Given the description of an element on the screen output the (x, y) to click on. 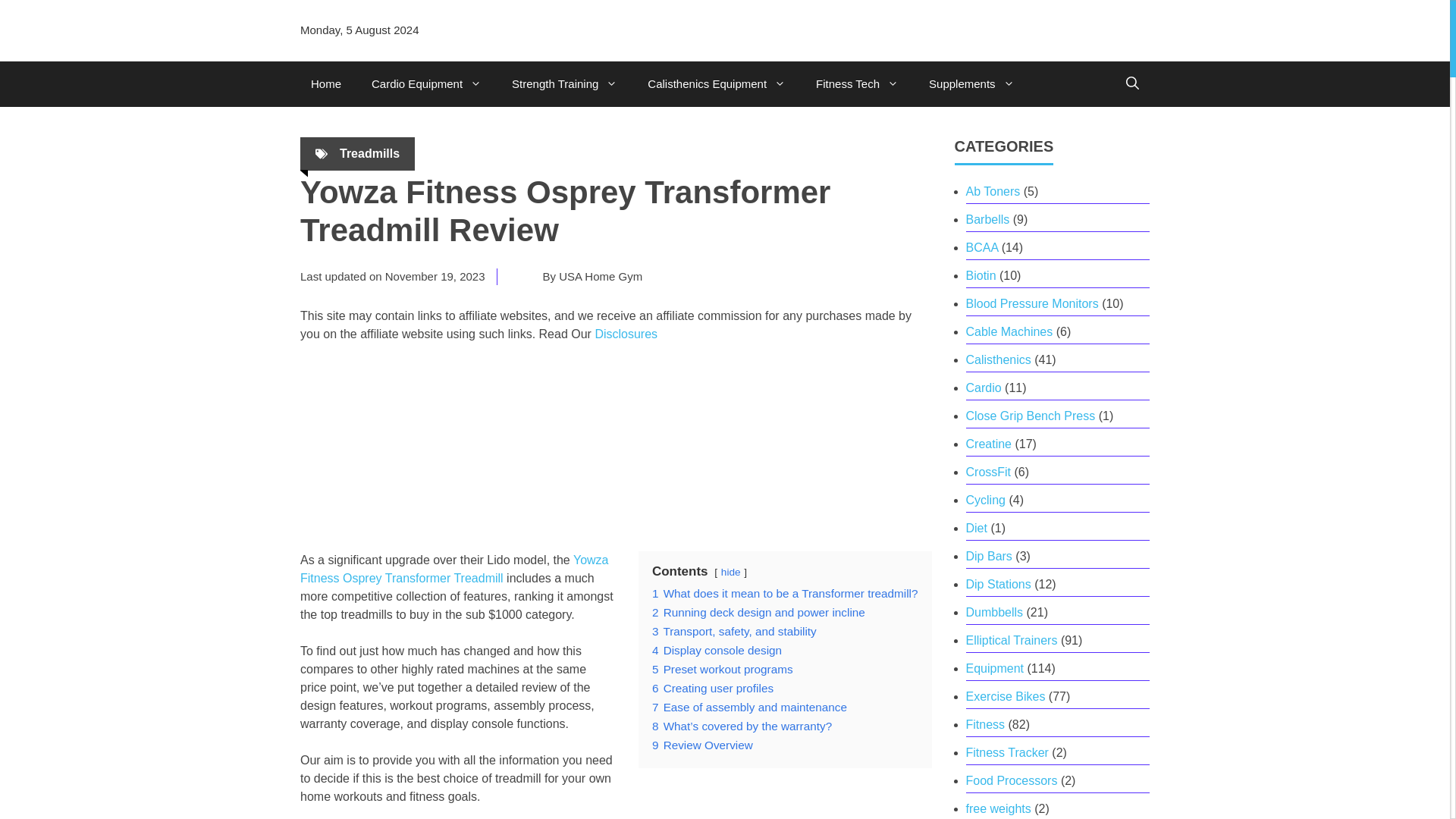
Home (325, 84)
Strength Training (563, 84)
Cardio Equipment (426, 84)
Fitness Tech (857, 84)
Read more (453, 568)
Supplements (971, 84)
Calisthenics Equipment (715, 84)
